Given the description of an element on the screen output the (x, y) to click on. 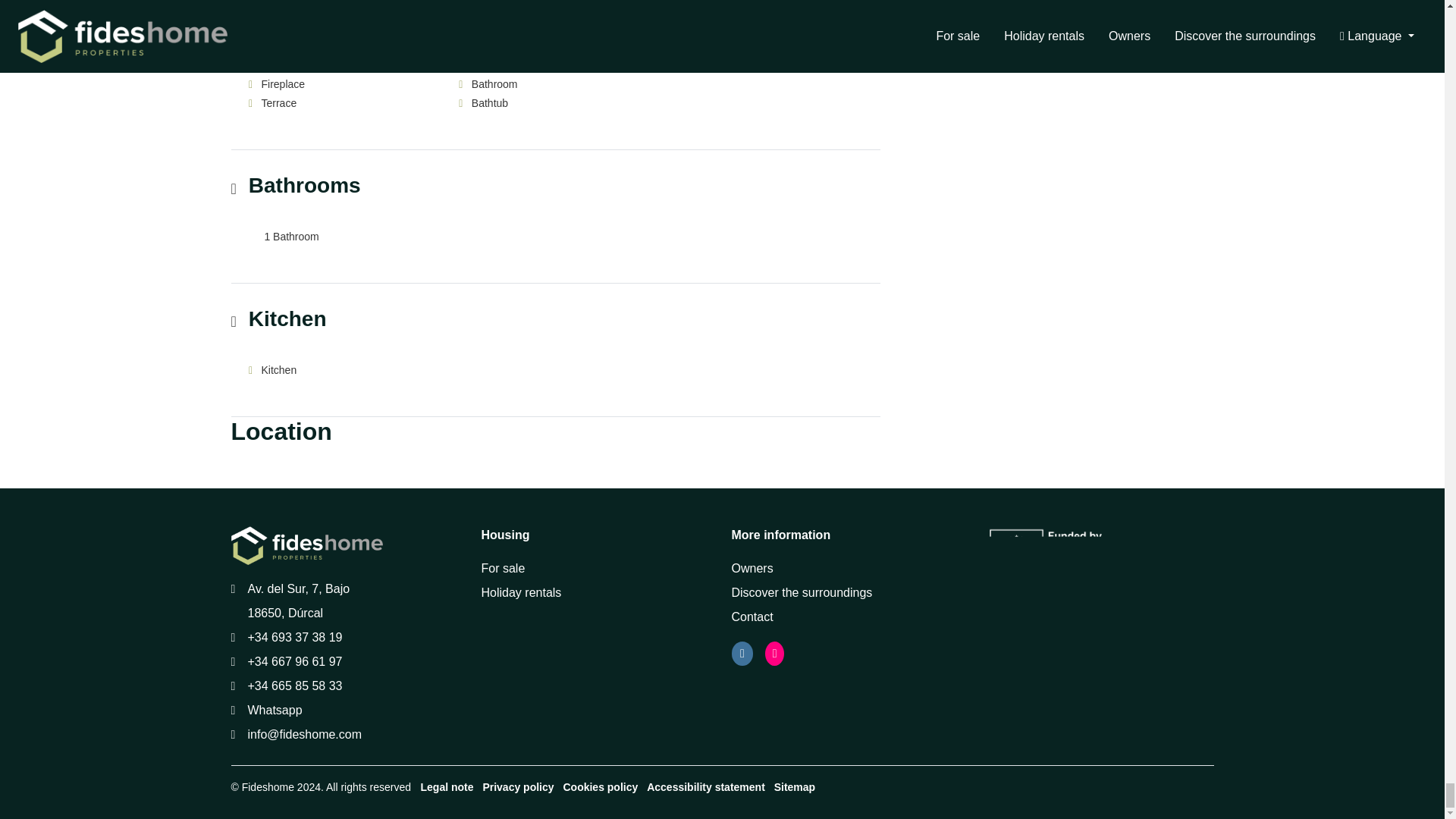
Owners (751, 567)
Contact (751, 616)
Whatsapp (274, 709)
Discover the surroundings (801, 592)
Holiday rentals (520, 592)
Privacy policy (517, 787)
For sale (502, 567)
Cookies policy (599, 787)
Funded by the European Union (1068, 547)
Legal note (446, 787)
